Given the description of an element on the screen output the (x, y) to click on. 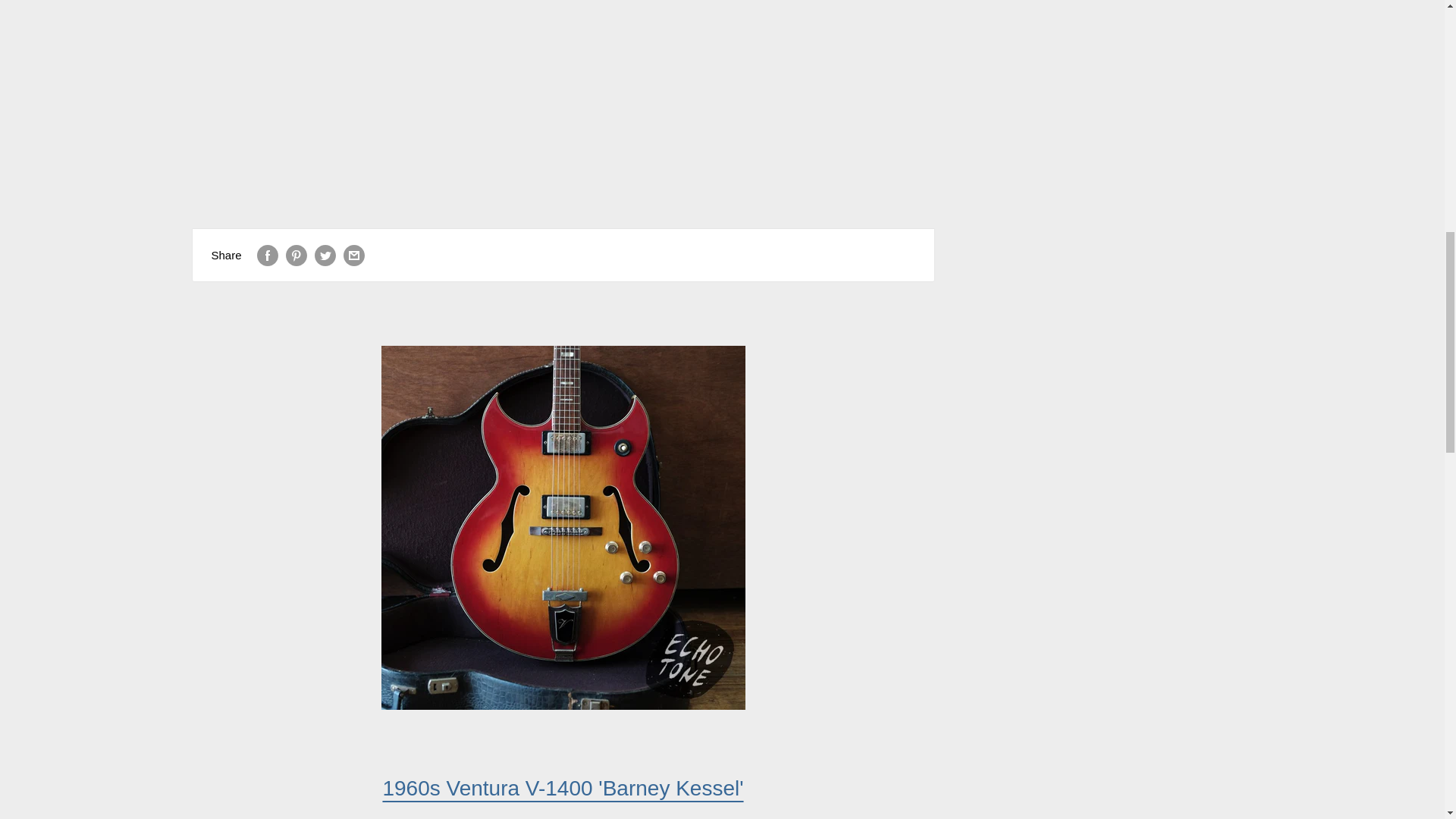
Ventura V-1400 Barney Kessel (561, 788)
